Given the description of an element on the screen output the (x, y) to click on. 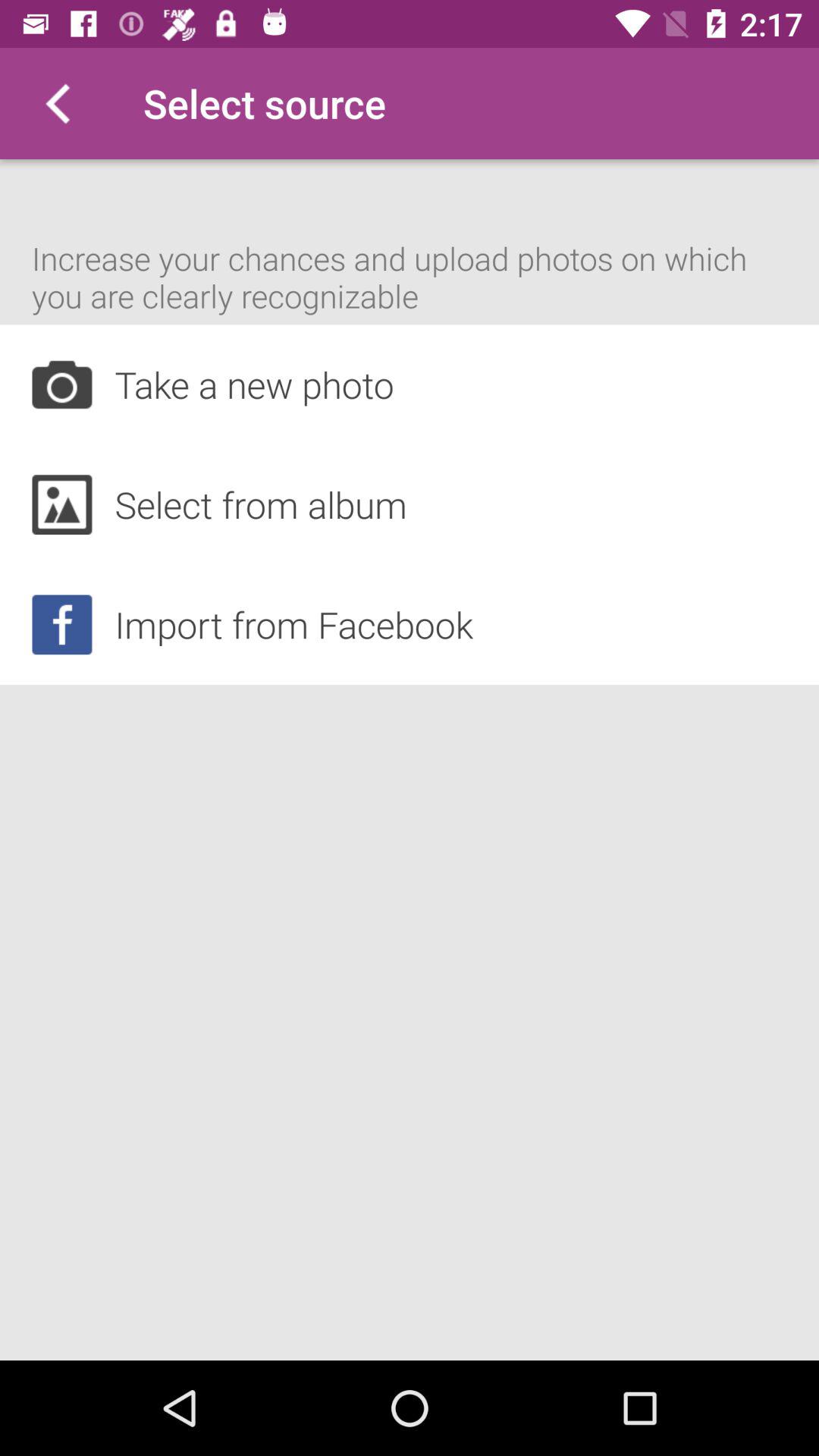
go back (55, 103)
